Given the description of an element on the screen output the (x, y) to click on. 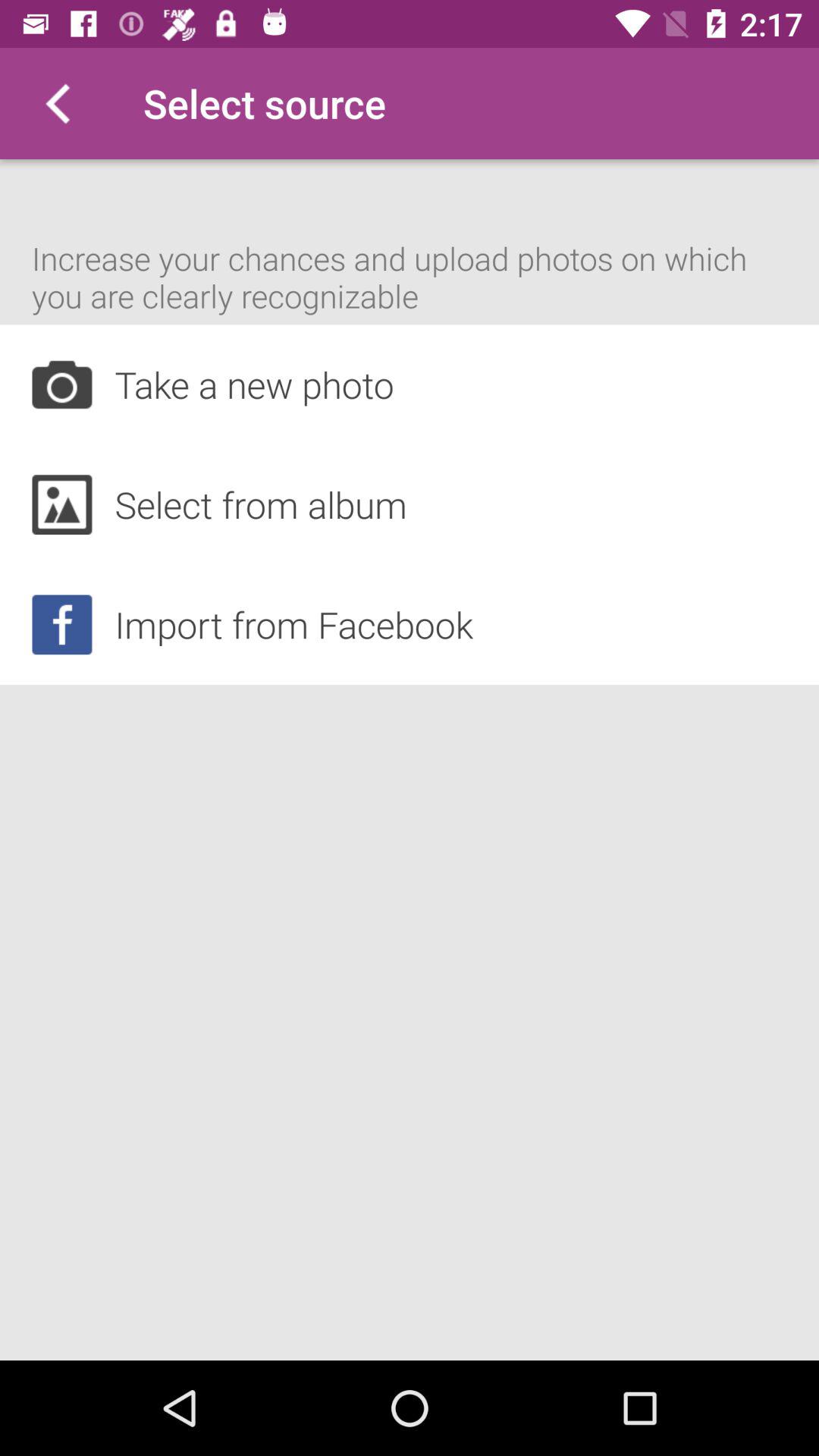
go back (55, 103)
